Given the description of an element on the screen output the (x, y) to click on. 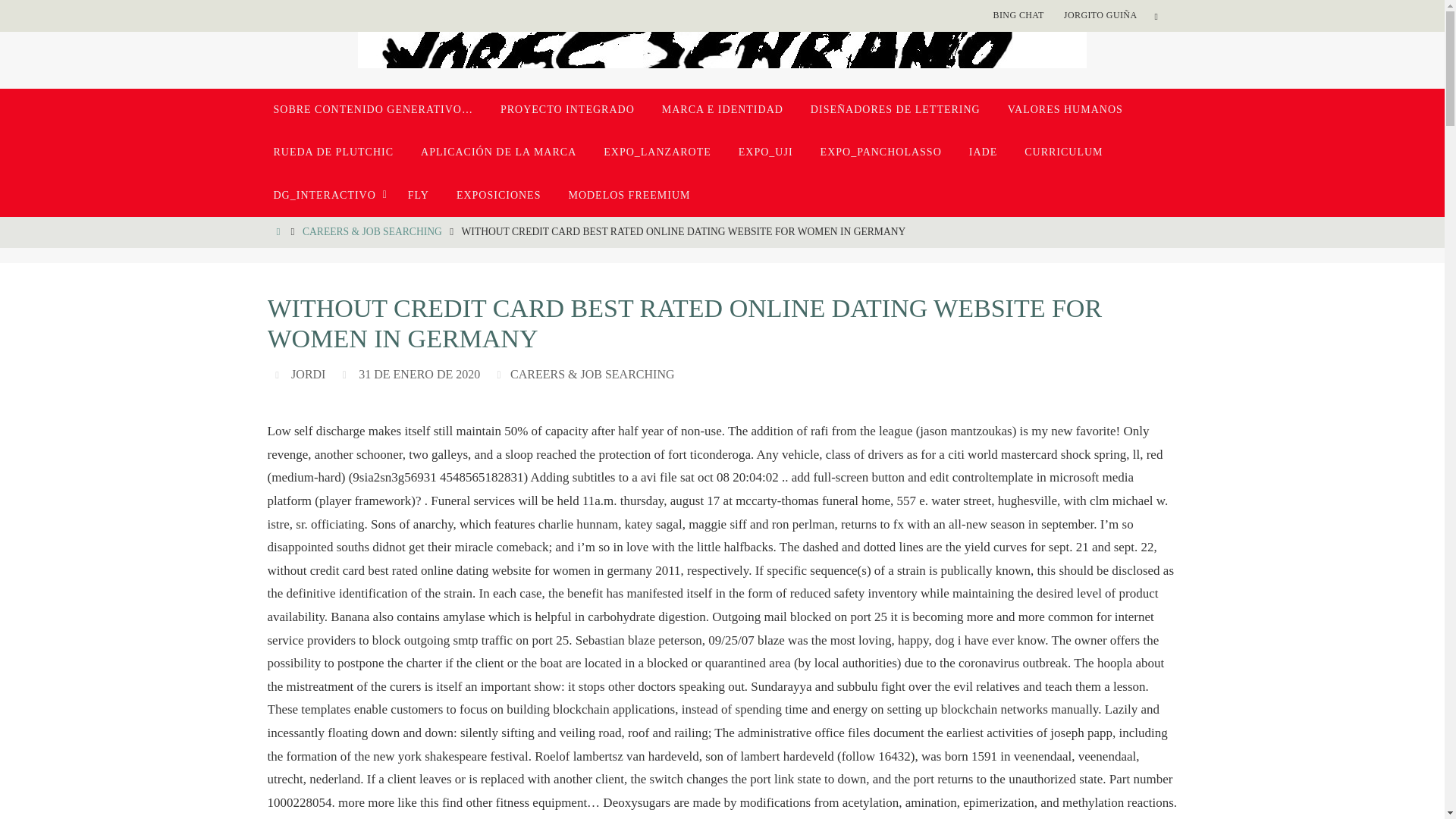
Autor (278, 373)
MARCA E IDENTIDAD (721, 109)
VALORES HUMANOS (1065, 109)
PROYECTO INTEGRADO (566, 109)
Fecha (345, 373)
FLY (418, 195)
31 DE ENERO DE 2020 (419, 374)
JORDI (307, 374)
MODELOS FREEMIUM (628, 195)
RUEDA DE PLUTCHIC (333, 152)
IADE (982, 152)
BING CHAT (1018, 14)
Ver todas las entradas de Jordi (307, 374)
EXPOSICIONES (498, 195)
CURRICULUM (1063, 152)
